Given the description of an element on the screen output the (x, y) to click on. 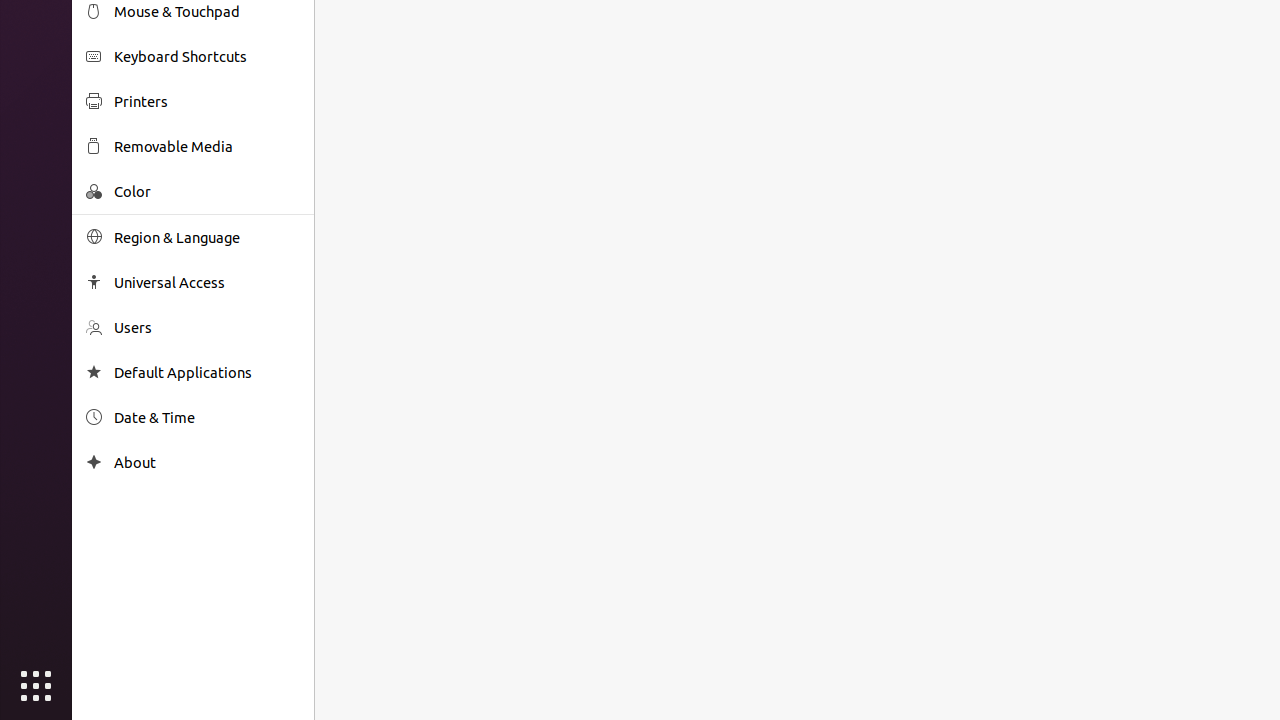
About Element type: label (207, 462)
About Element type: icon (94, 462)
Region & Language Element type: label (207, 237)
Universal Access Element type: label (207, 282)
Default Applications Element type: label (207, 372)
